Given the description of an element on the screen output the (x, y) to click on. 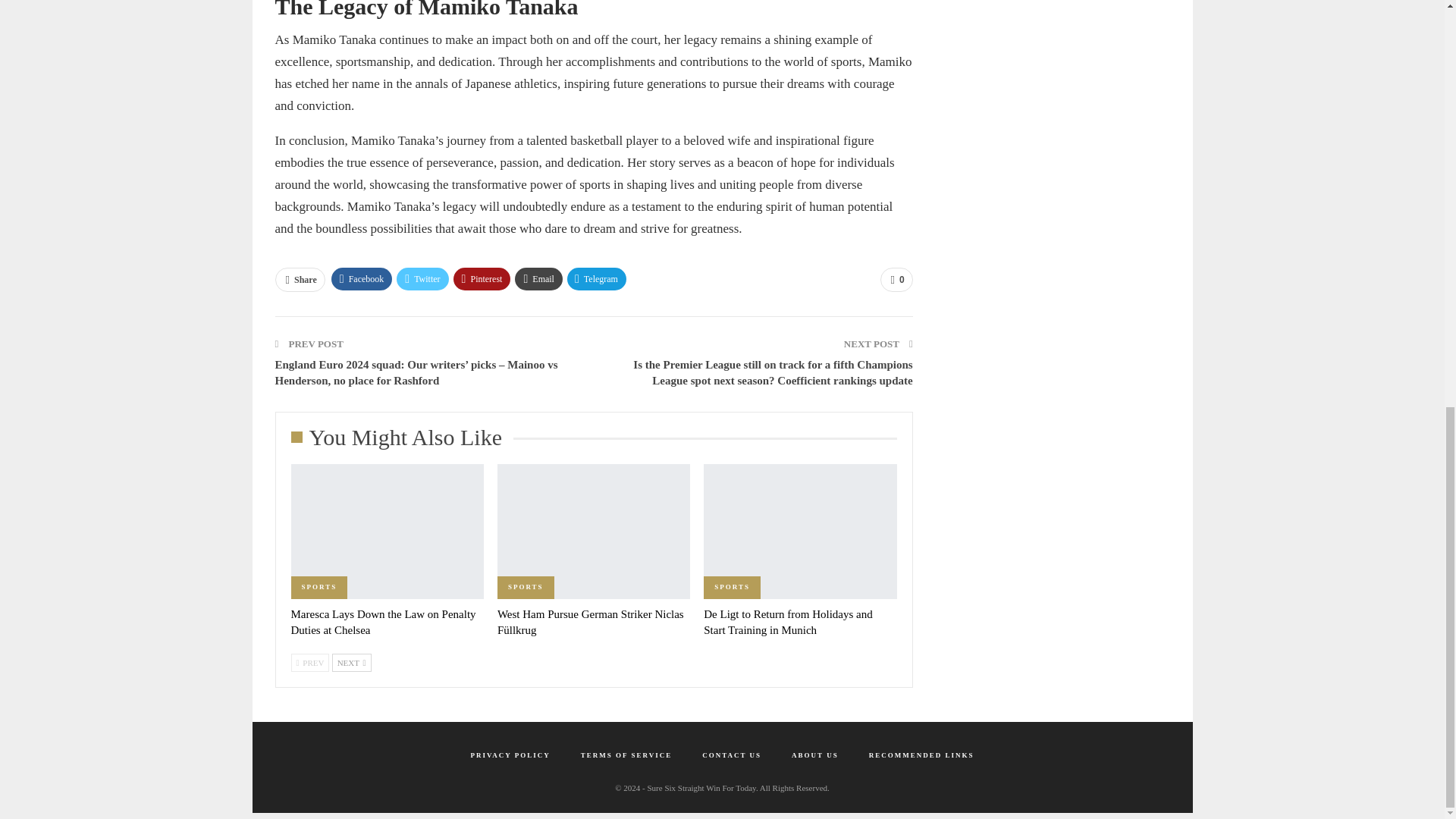
Maresca Lays Down the Law on Penalty Duties at Chelsea (383, 622)
Twitter (422, 278)
SPORTS (731, 587)
Previous (310, 662)
De Ligt to Return from Holidays and Start Training in Munich (787, 622)
Facebook (362, 278)
Next (351, 662)
Email (538, 278)
You Might Also Like (402, 440)
SPORTS (525, 587)
PREV (310, 662)
Maresca Lays Down the Law on Penalty Duties at Chelsea (383, 622)
SPORTS (319, 587)
NEXT (351, 662)
